Given the description of an element on the screen output the (x, y) to click on. 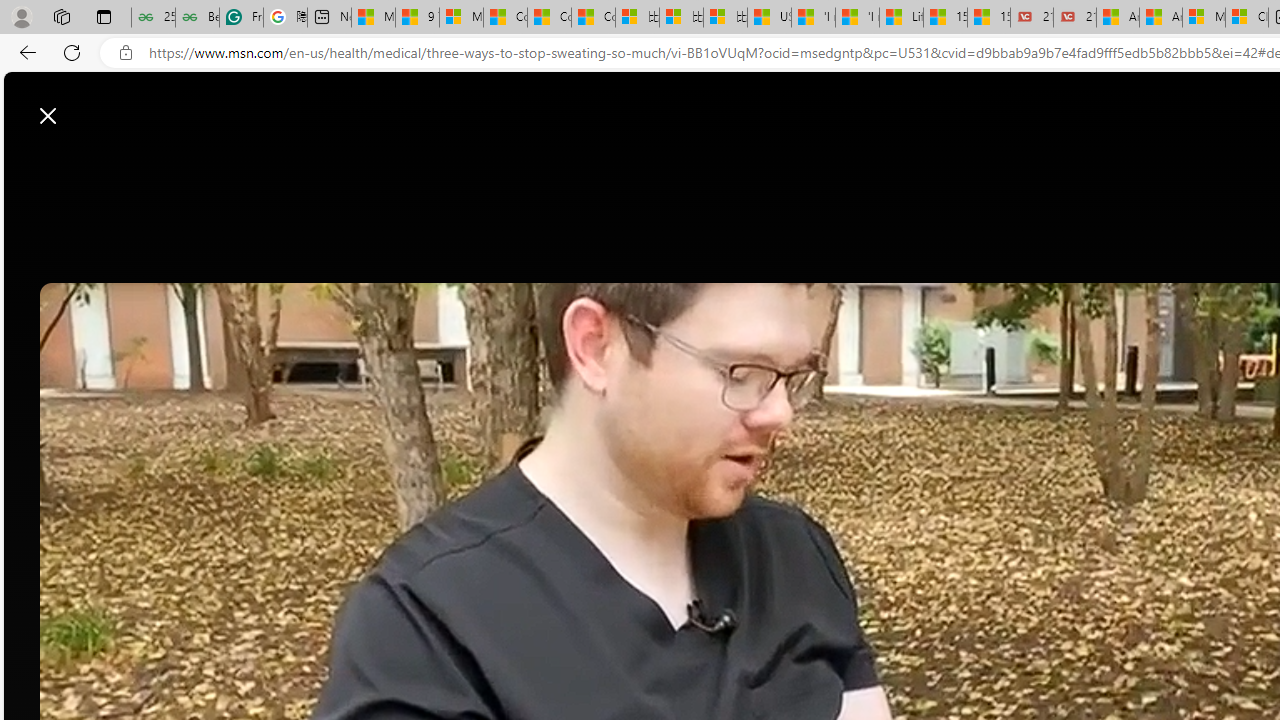
Watch (548, 162)
Cloud Computing Services | Microsoft Azure (1247, 17)
